Given the description of an element on the screen output the (x, y) to click on. 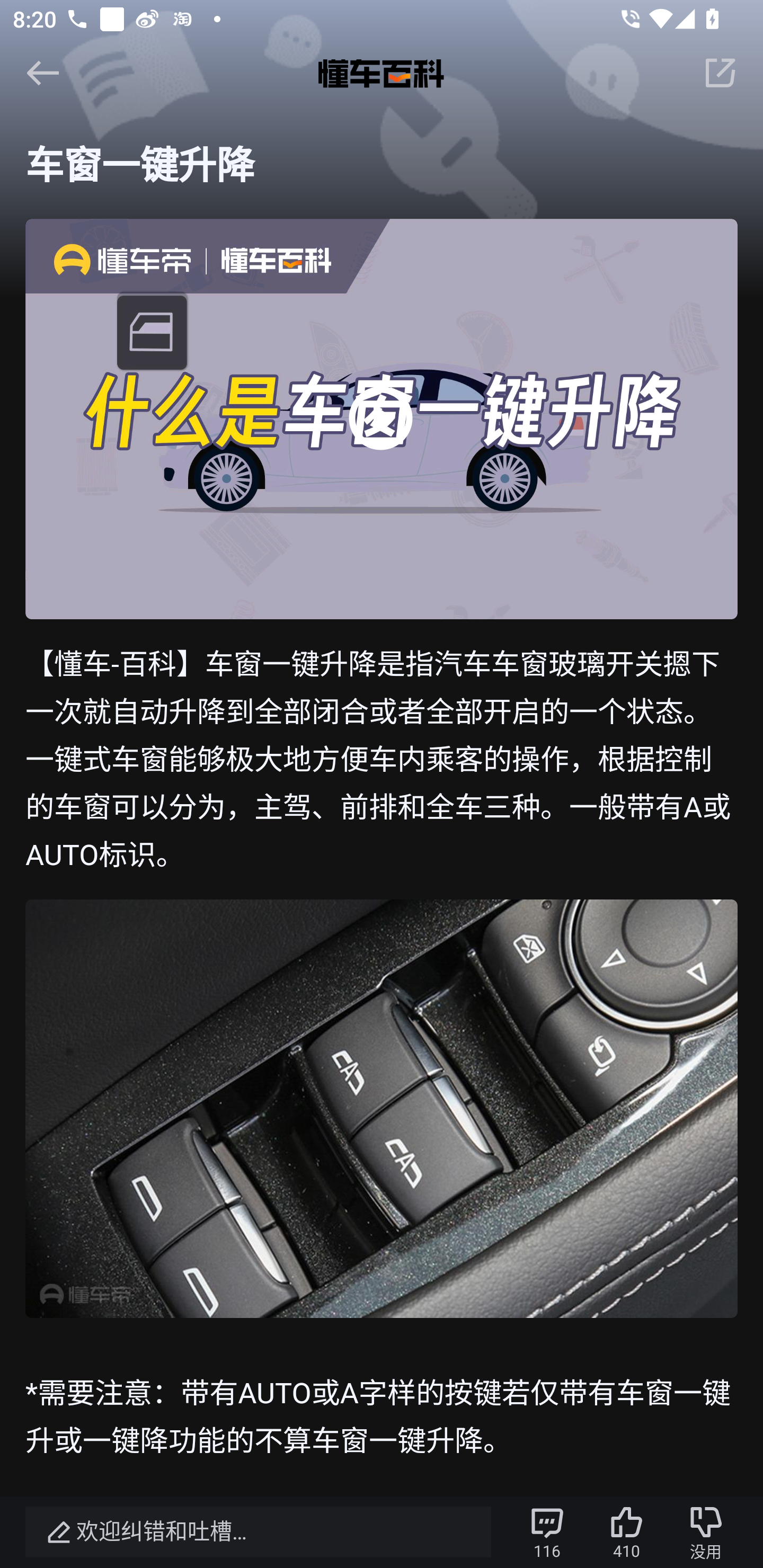
 (42, 71)
 (720, 71)
 116 (546, 1531)
410 (625, 1531)
没用 (705, 1531)
 欢迎纠错和吐槽… (258, 1531)
